Given the description of an element on the screen output the (x, y) to click on. 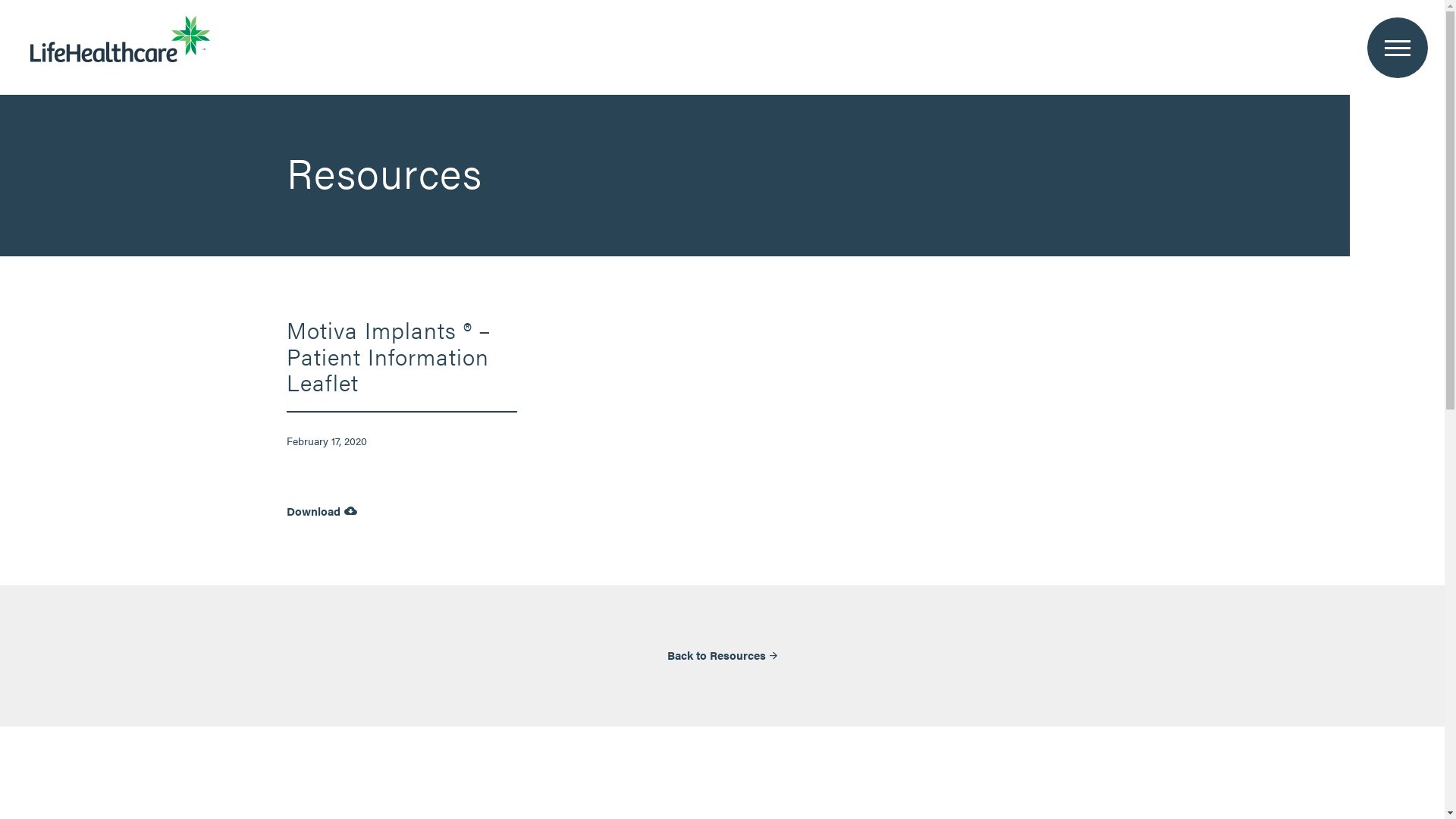
Fohm Element type: text (800, 520)
Interested in a career with us? Element type: text (725, 446)
Customer Satisfaction Survey Element type: text (922, 446)
Download Element type: text (321, 512)
Back to Resources Element type: text (722, 654)
Whistleblower Report Element type: text (1095, 446)
Terms & Conditions Element type: text (1021, 520)
Privacy Policy Element type: text (1129, 520)
View All Locations Element type: text (559, 446)
